Given the description of an element on the screen output the (x, y) to click on. 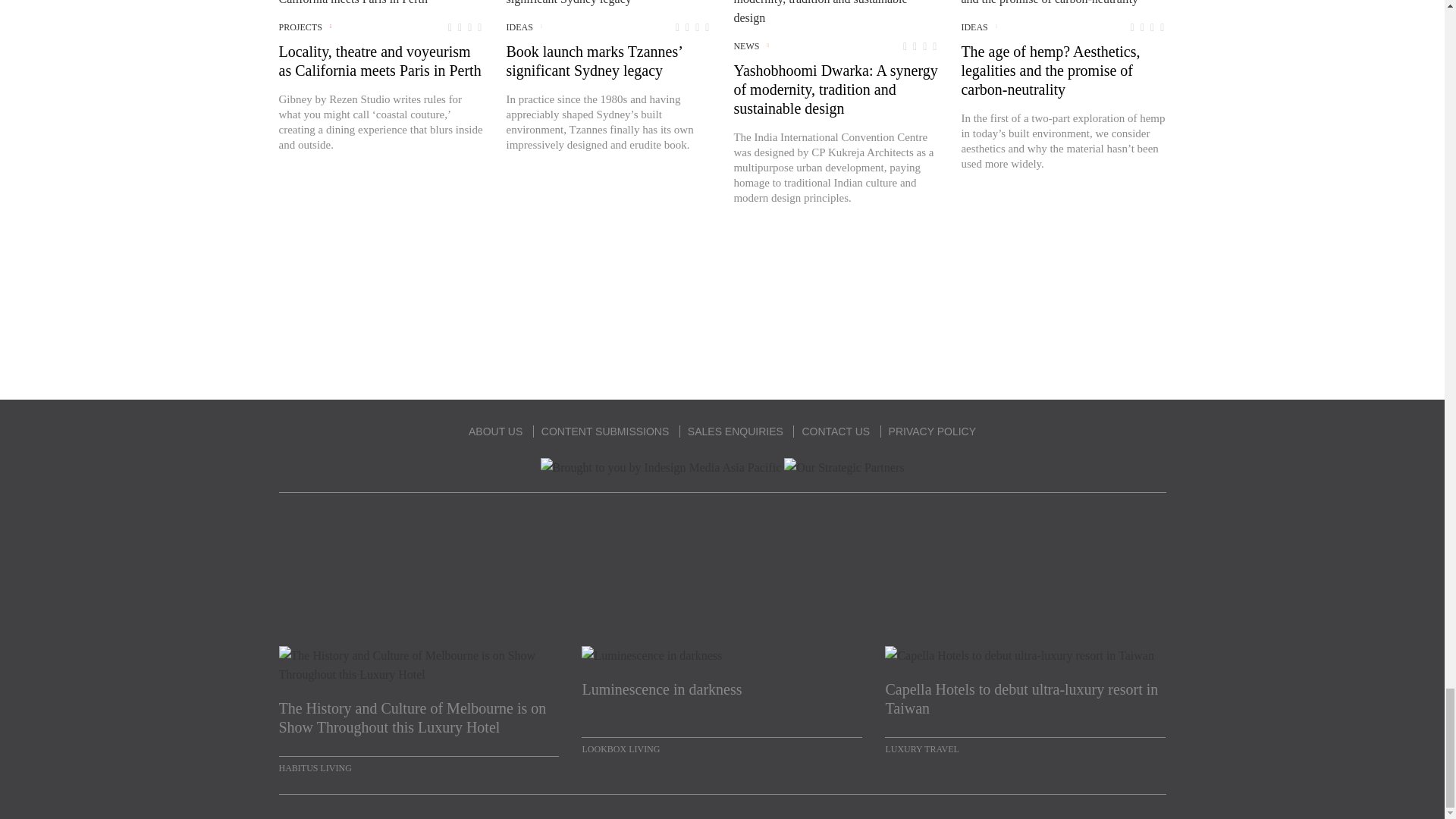
Our Strategic Partners (844, 466)
Brought to you by Indesign Media Asia Pacific (660, 466)
